Given the description of an element on the screen output the (x, y) to click on. 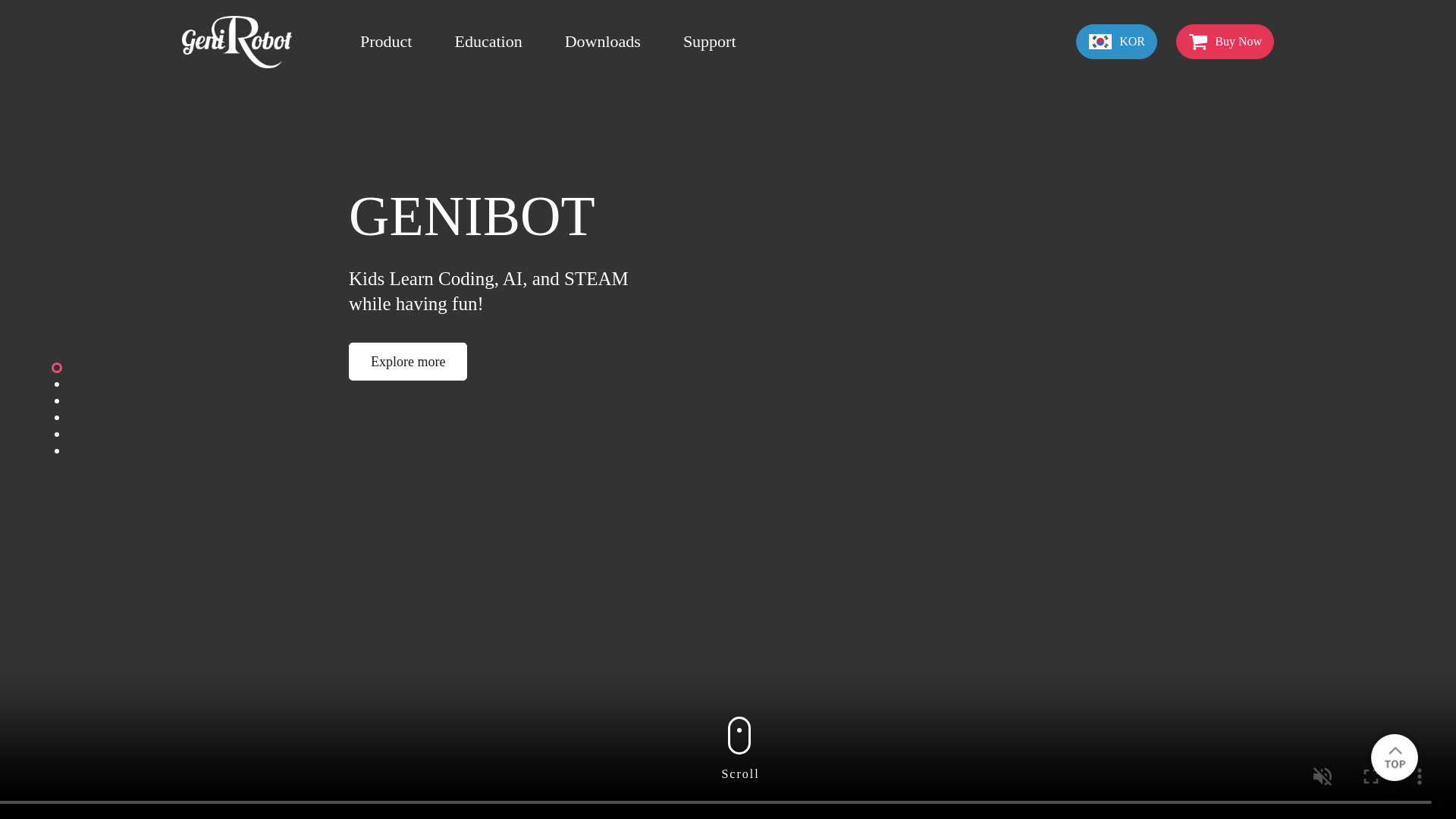
Explore more (408, 361)
KOR (1116, 41)
Product (385, 40)
Downloads (602, 40)
GeniRobot Store (1225, 41)
Support (709, 40)
Dabida (237, 41)
Education (487, 40)
Explore more (408, 361)
Buy Now (1225, 41)
